Given the description of an element on the screen output the (x, y) to click on. 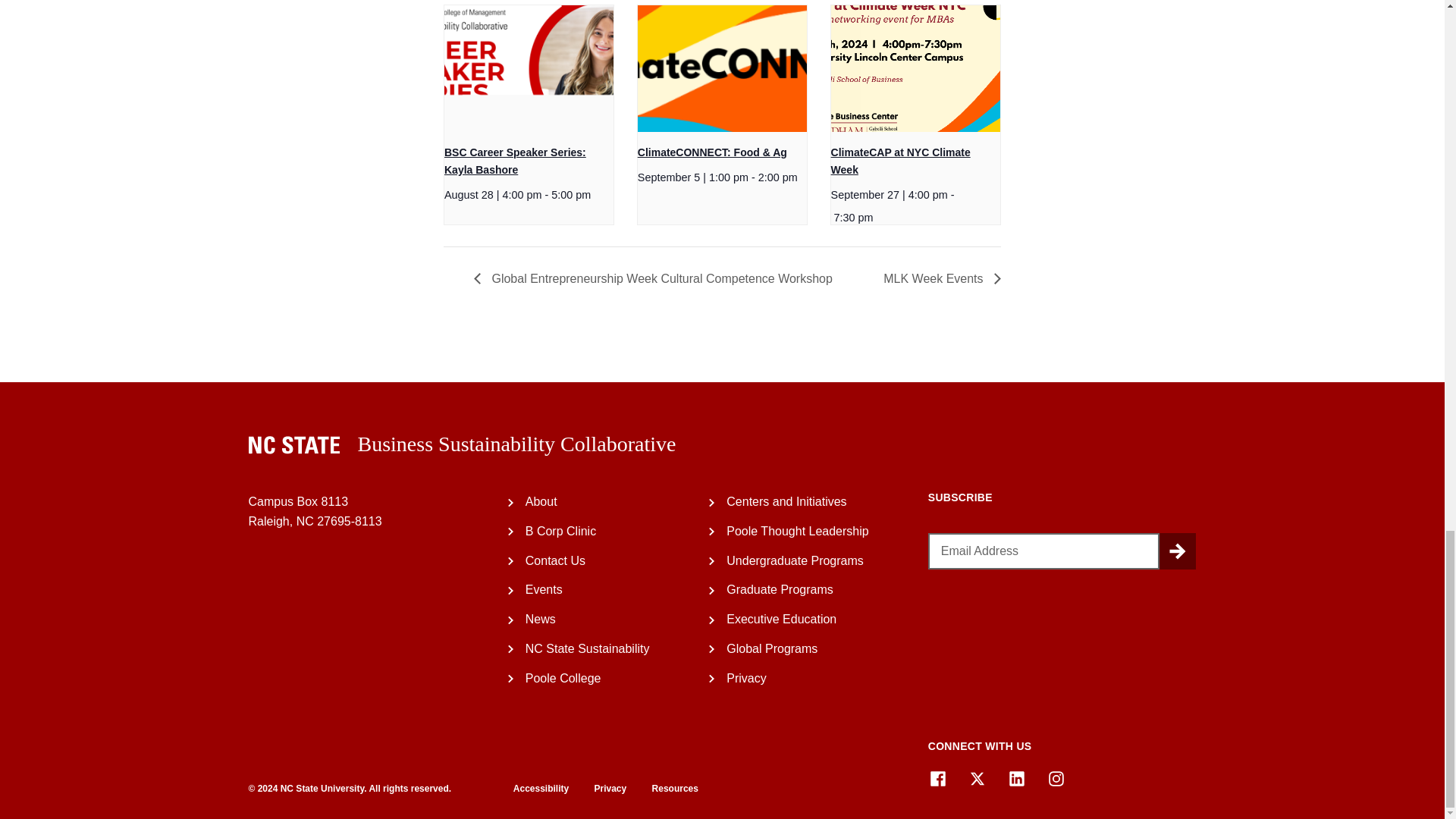
LinkedIn (1016, 778)
Instagram (1055, 778)
Facebook (937, 778)
X (977, 778)
